Given the description of an element on the screen output the (x, y) to click on. 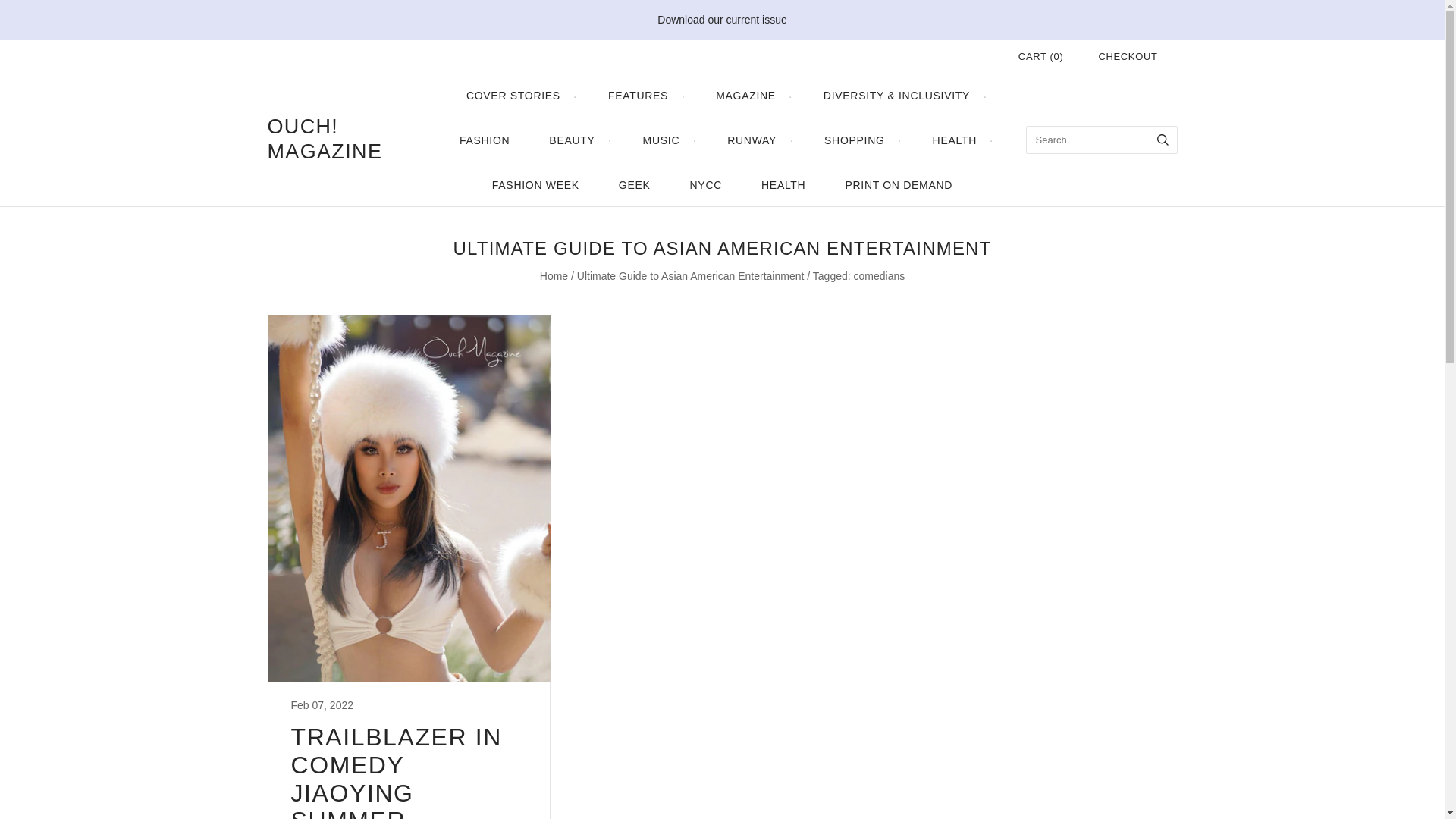
CHECKOUT (1127, 56)
OUCH! MAGAZINE (342, 139)
FASHION (484, 139)
